Given the description of an element on the screen output the (x, y) to click on. 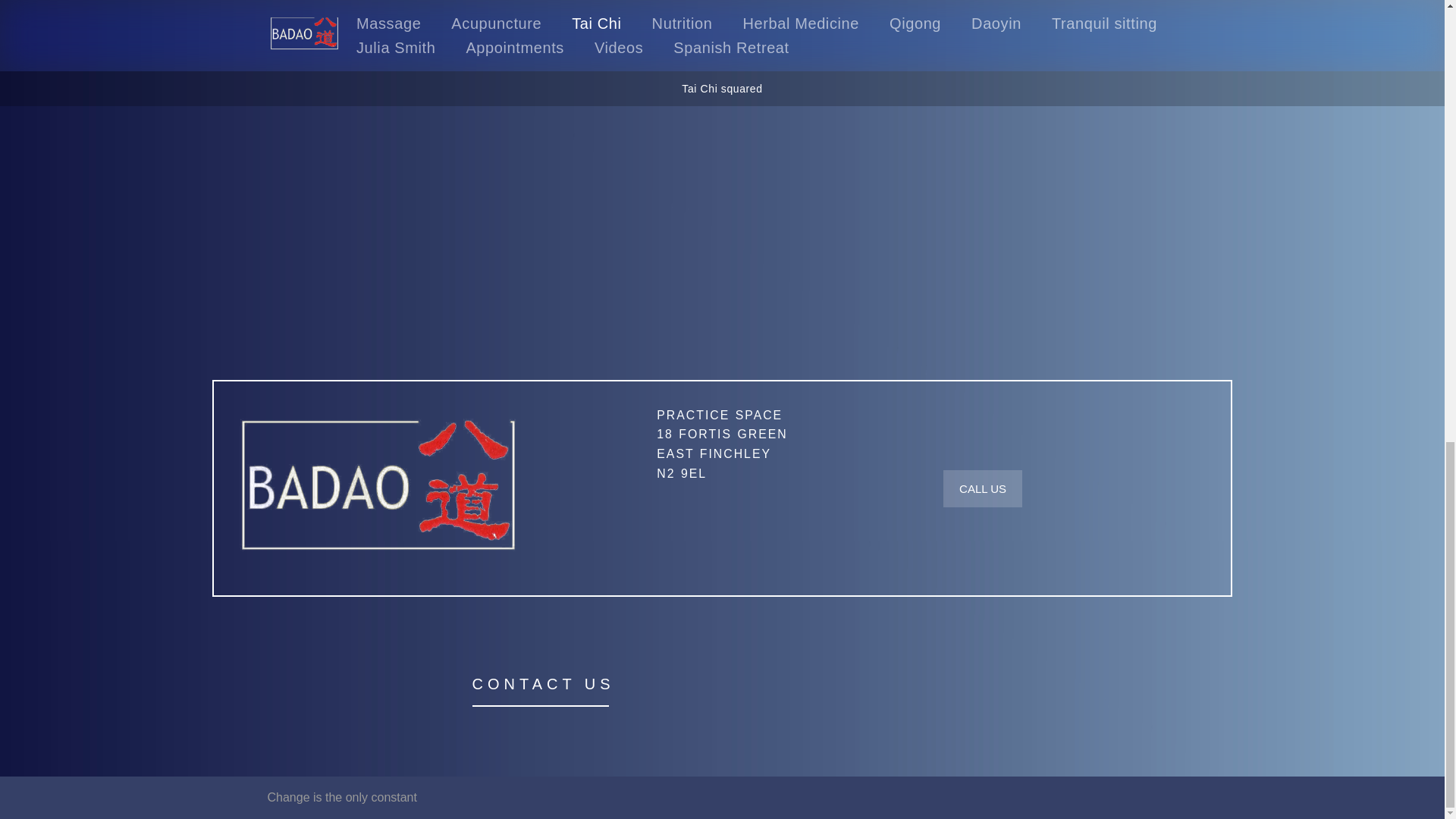
Contact (982, 488)
Contact (721, 443)
CALL US (721, 443)
